Given the description of an element on the screen output the (x, y) to click on. 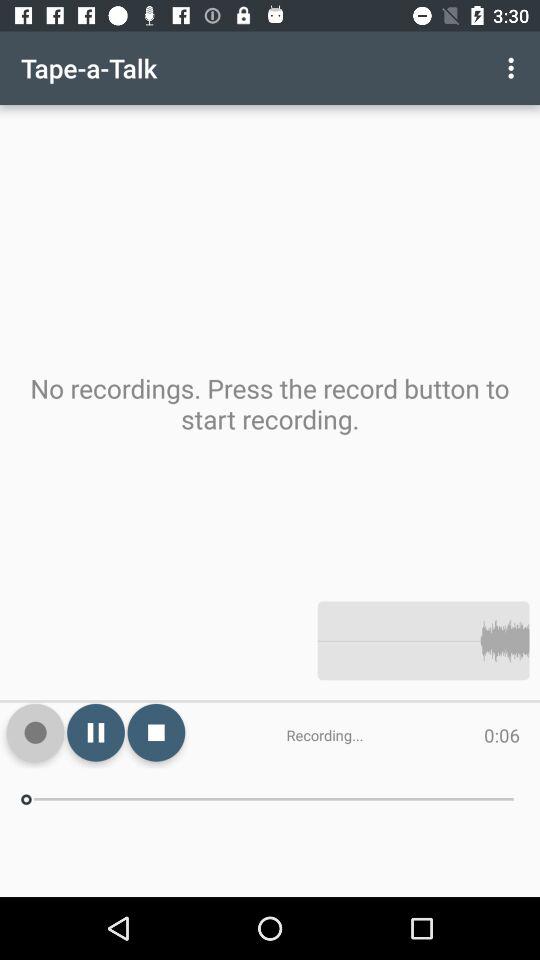
open icon to the left of recording... item (156, 732)
